Given the description of an element on the screen output the (x, y) to click on. 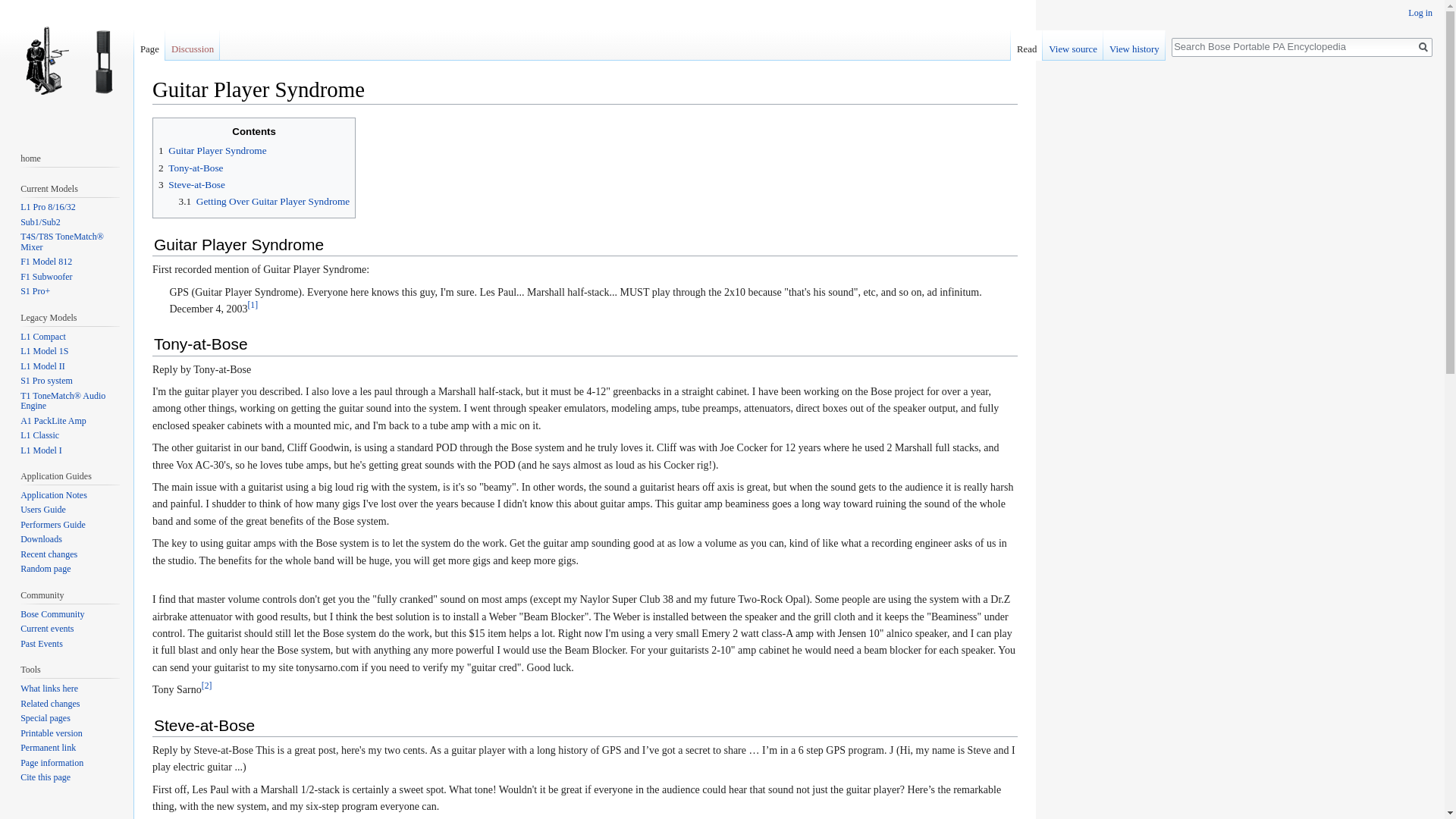
L1 Compact (42, 336)
F1 Model 812 (45, 261)
2 Tony-at-Bose (190, 167)
S1 Pro system (46, 380)
Page (149, 45)
A1 PackLite Amp (52, 420)
L1 Model 1S (44, 350)
L1 Model II (42, 366)
F1 Subwoofer (45, 276)
1 Guitar Player Syndrome (212, 150)
